Given the description of an element on the screen output the (x, y) to click on. 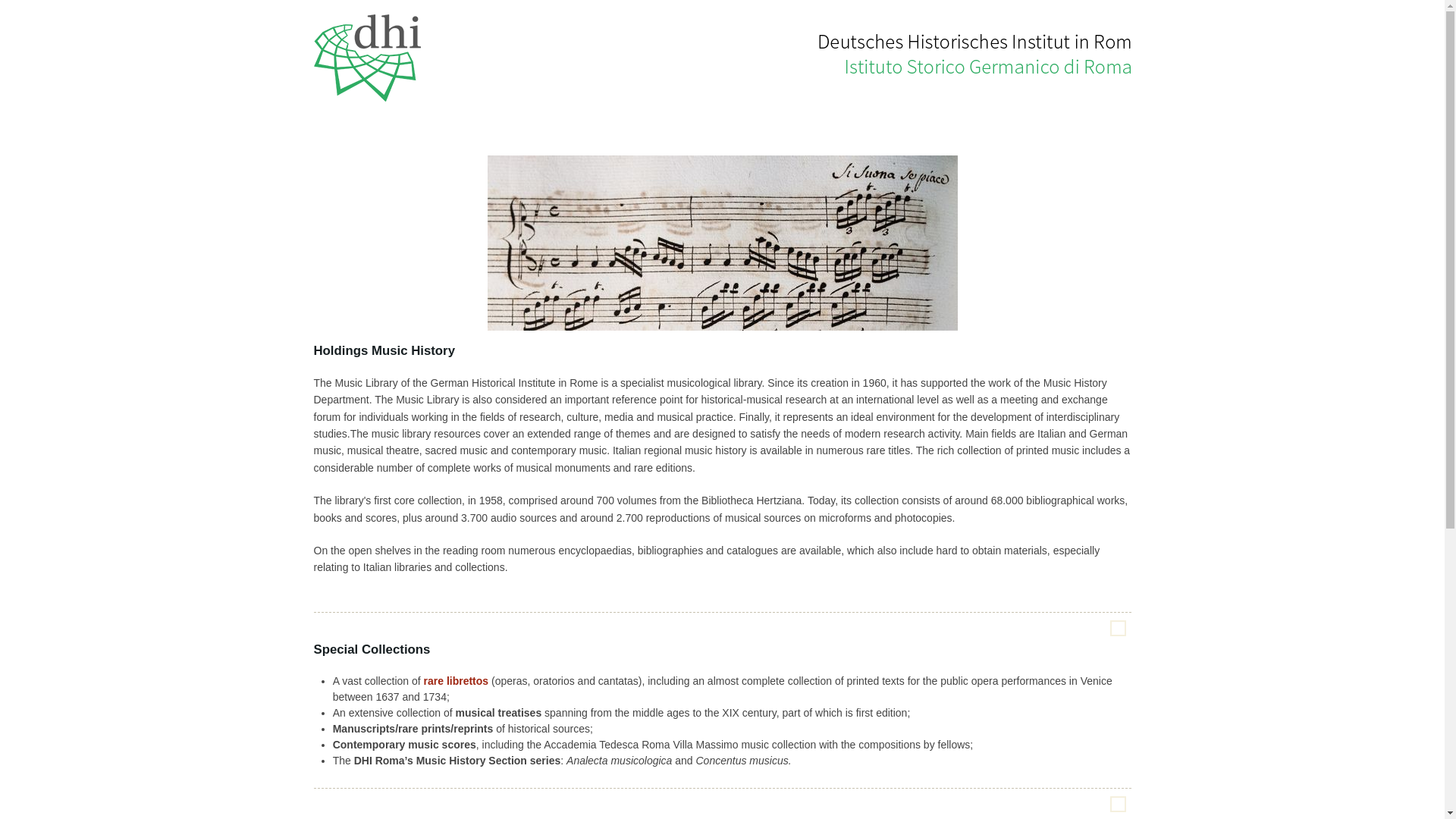
DHI Rom (368, 56)
To top (1117, 627)
To top (1117, 804)
ITALIANO (1110, 5)
GERMAN HISTORICAL INSTITUTE IN ROME (943, 5)
DEUTSCH (1065, 5)
